Given the description of an element on the screen output the (x, y) to click on. 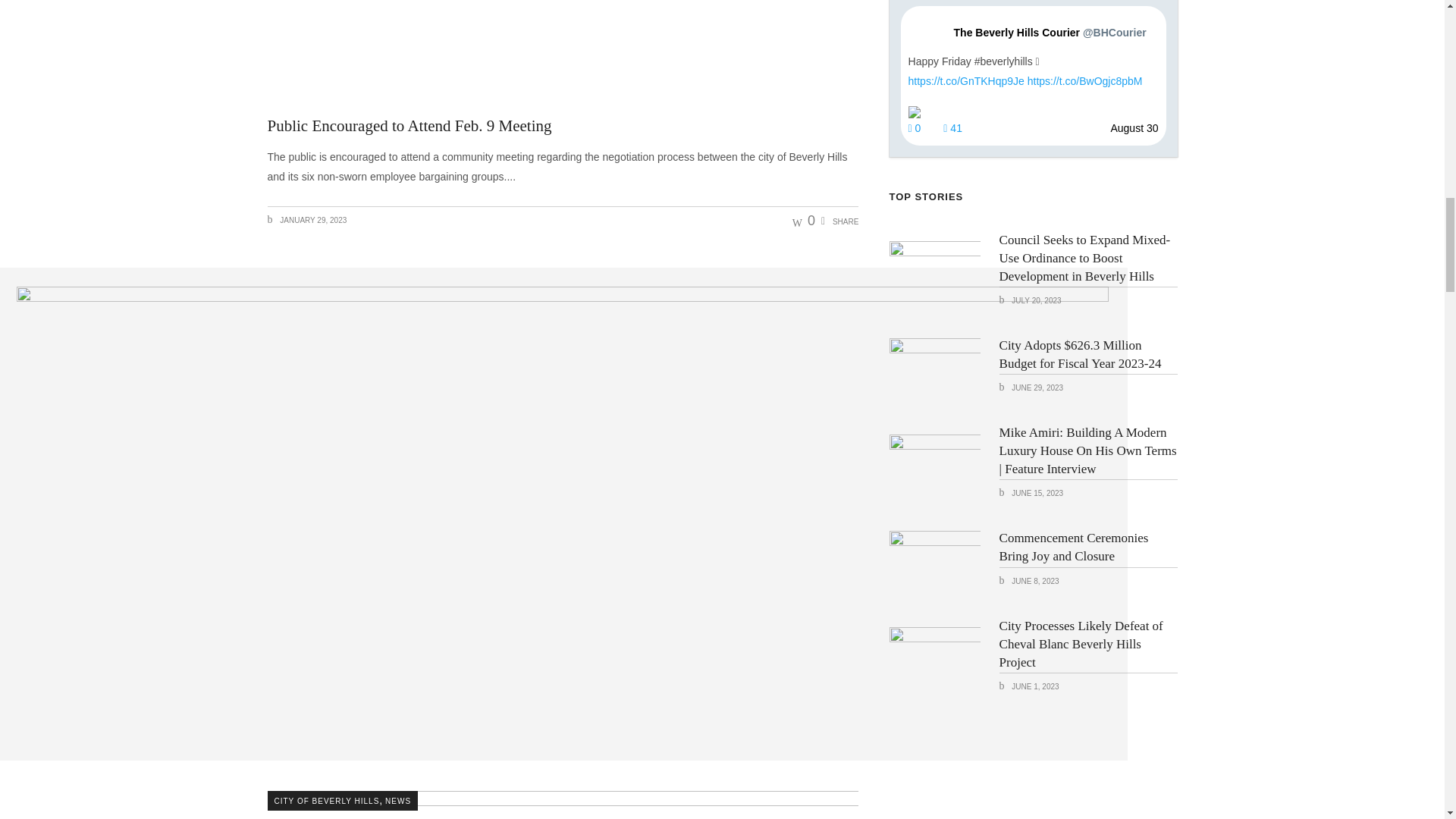
Public Encouraged to Attend Feb. 9 Meeting (408, 126)
Adam Friedman Granted Diversion in Criminal Case (562, 805)
Public Encouraged to Attend Feb. 9 Meeting (562, 48)
Like this (803, 220)
